Given the description of an element on the screen output the (x, y) to click on. 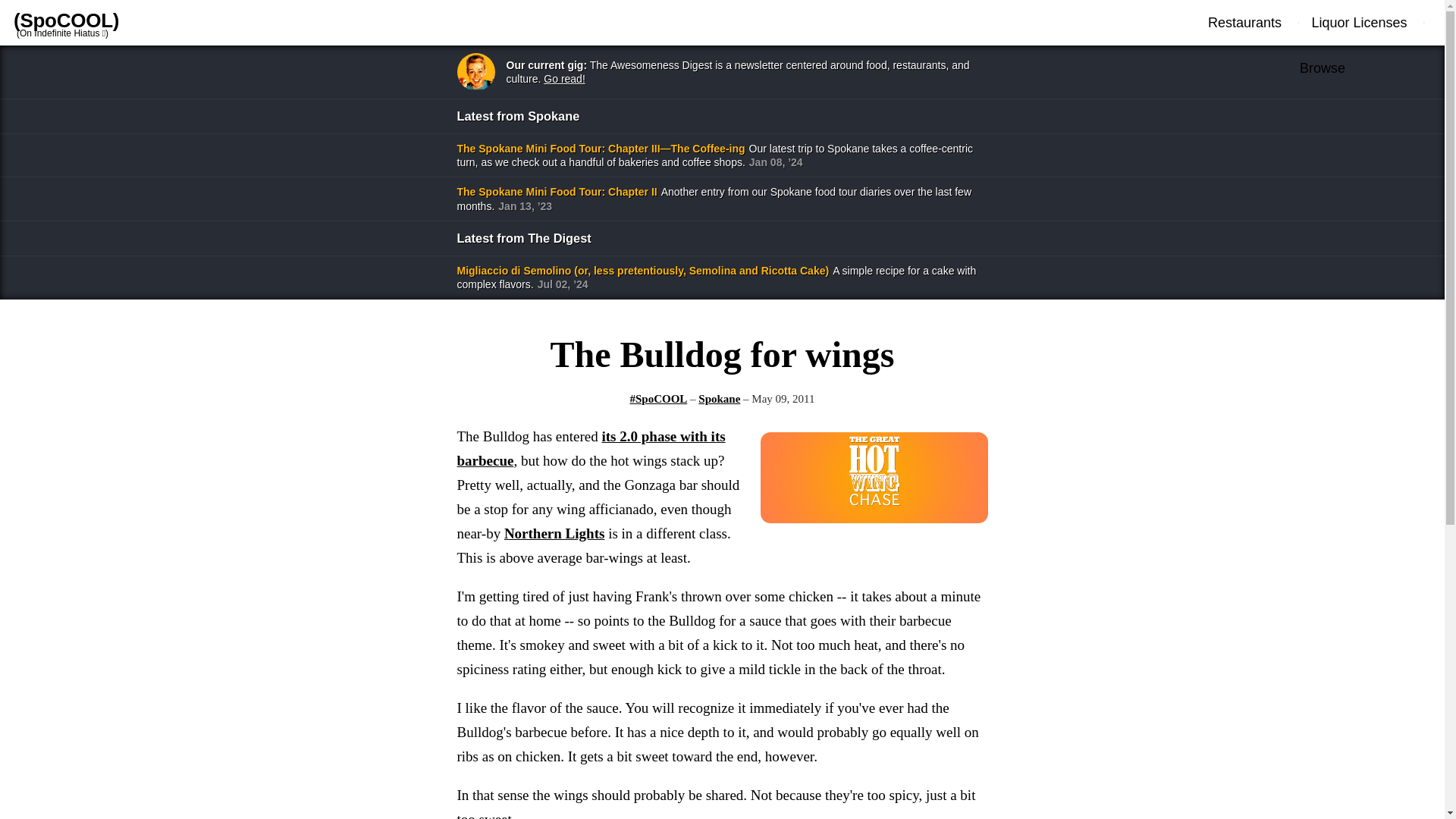
View cover (873, 519)
Latest from Spokane (721, 116)
View more posts from this location (718, 398)
Browse (1322, 68)
Spokane (718, 398)
Liquor Licenses (1361, 22)
its 2.0 phase with its barbecue (591, 448)
View more posts in this category (657, 398)
Latest from The Digest (721, 238)
Restaurants (1252, 22)
